Given the description of an element on the screen output the (x, y) to click on. 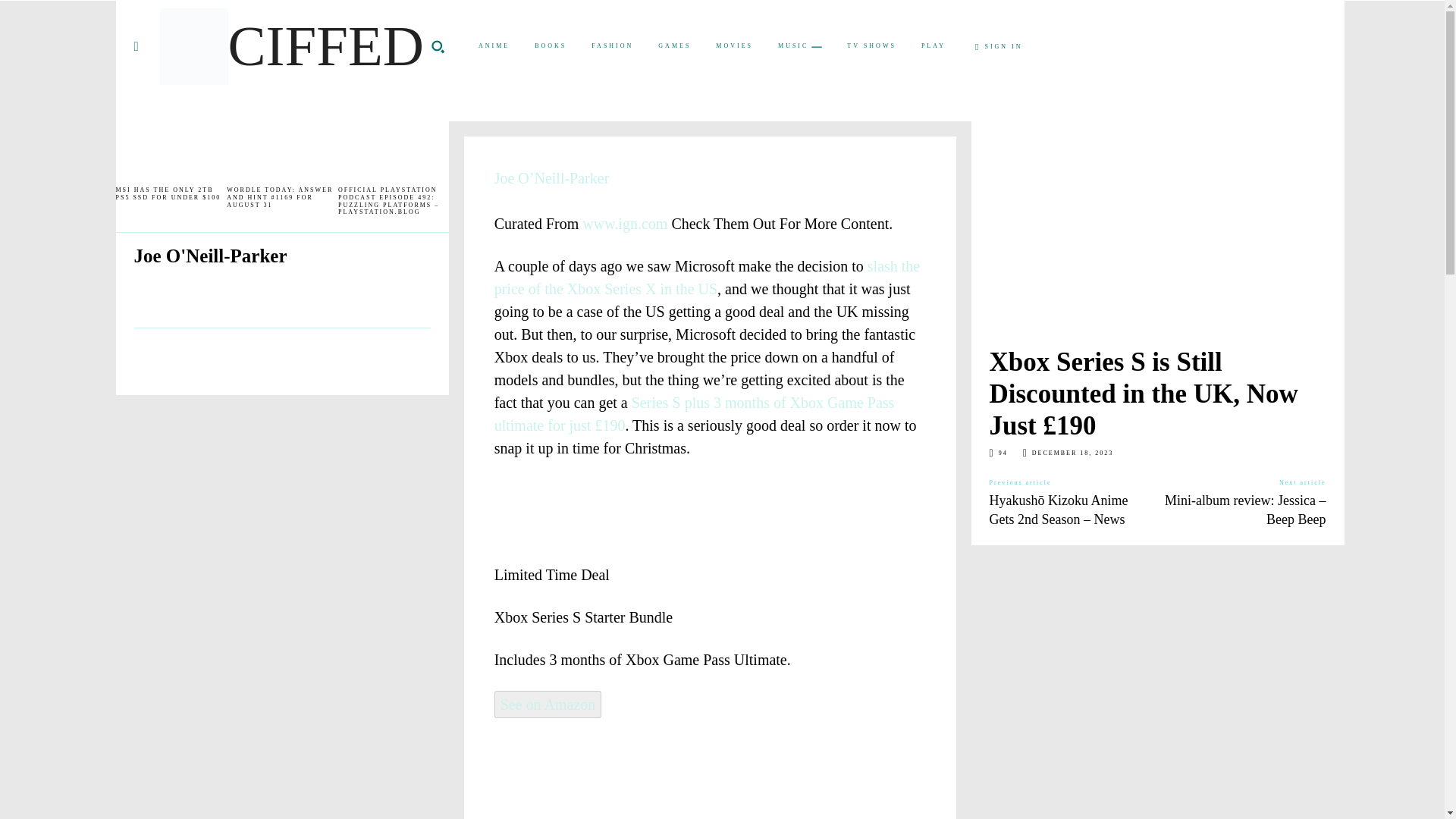
FASHION (611, 46)
CIFFED (290, 46)
ANIME (493, 46)
TV SHOWS (871, 46)
PLAY (933, 46)
SIGN IN (999, 46)
MOVIES (733, 46)
BOOKS (550, 46)
MUSIC (799, 47)
GAMES (674, 46)
